Given the description of an element on the screen output the (x, y) to click on. 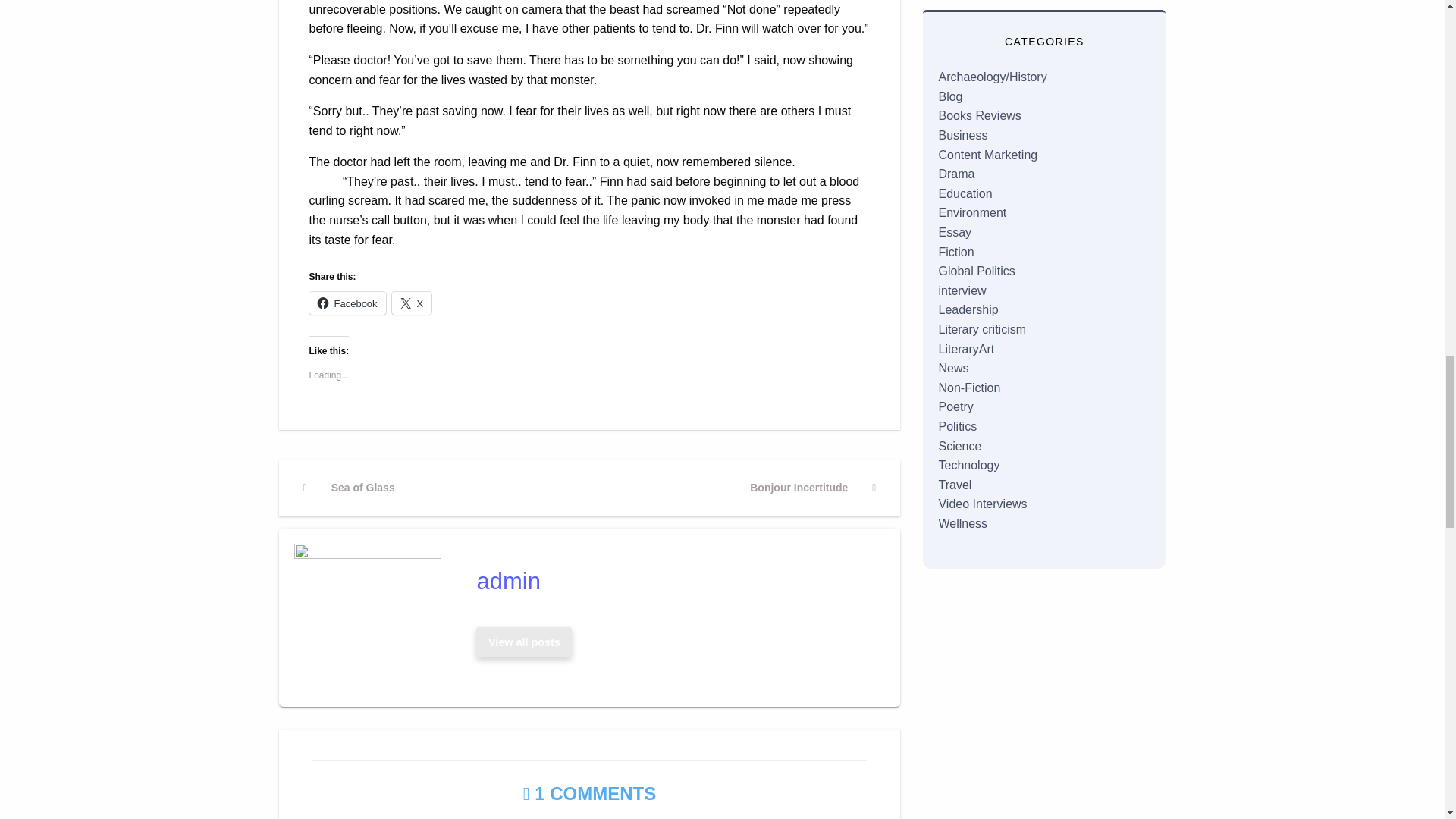
Facebook (346, 302)
admin (812, 488)
X (674, 581)
admin (411, 302)
View all posts (349, 488)
Click to share on X (523, 642)
Click to share on Facebook (524, 642)
View all posts (411, 302)
